Given the description of an element on the screen output the (x, y) to click on. 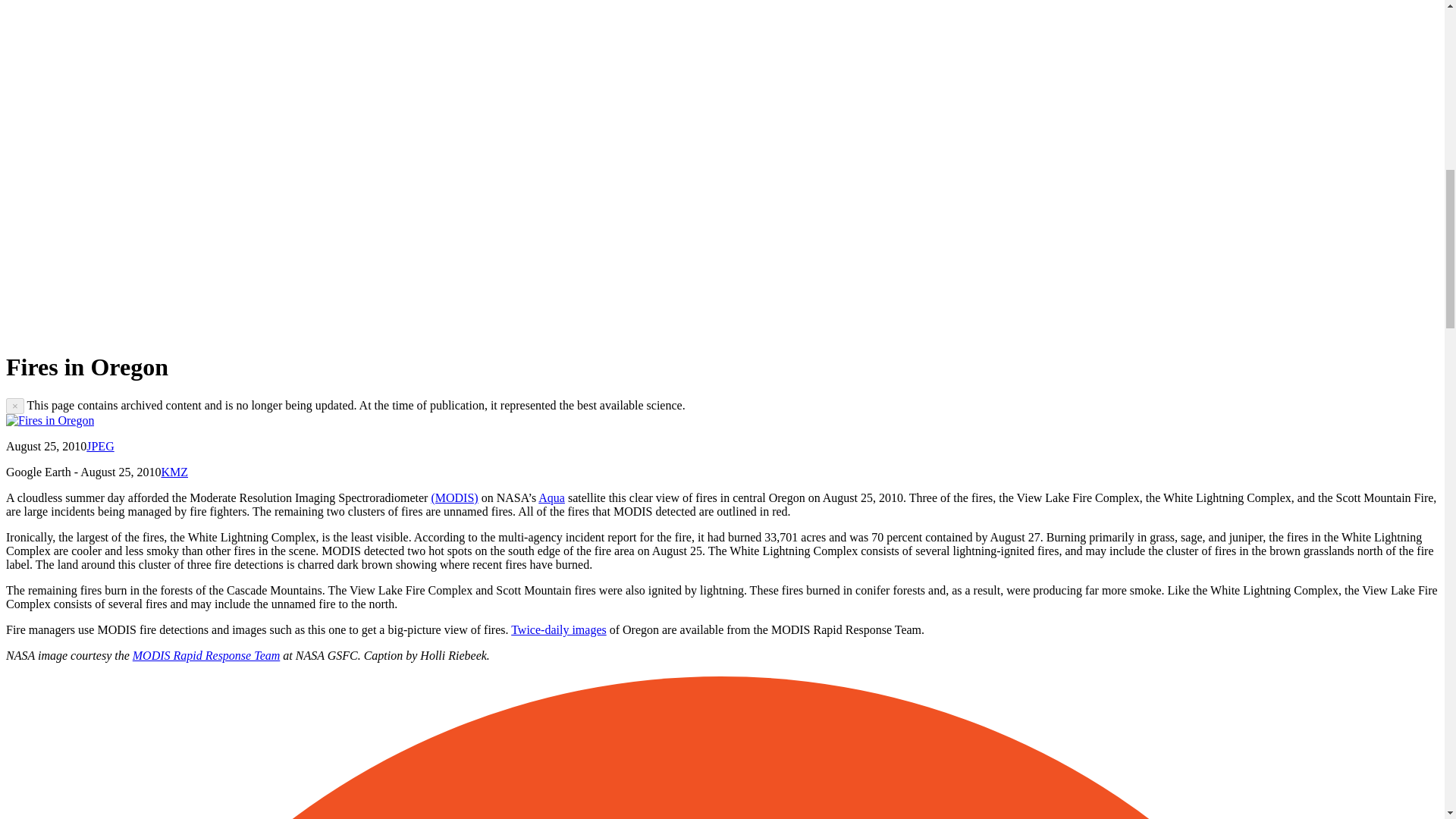
Share (161, 329)
Print (510, 329)
